Given the description of an element on the screen output the (x, y) to click on. 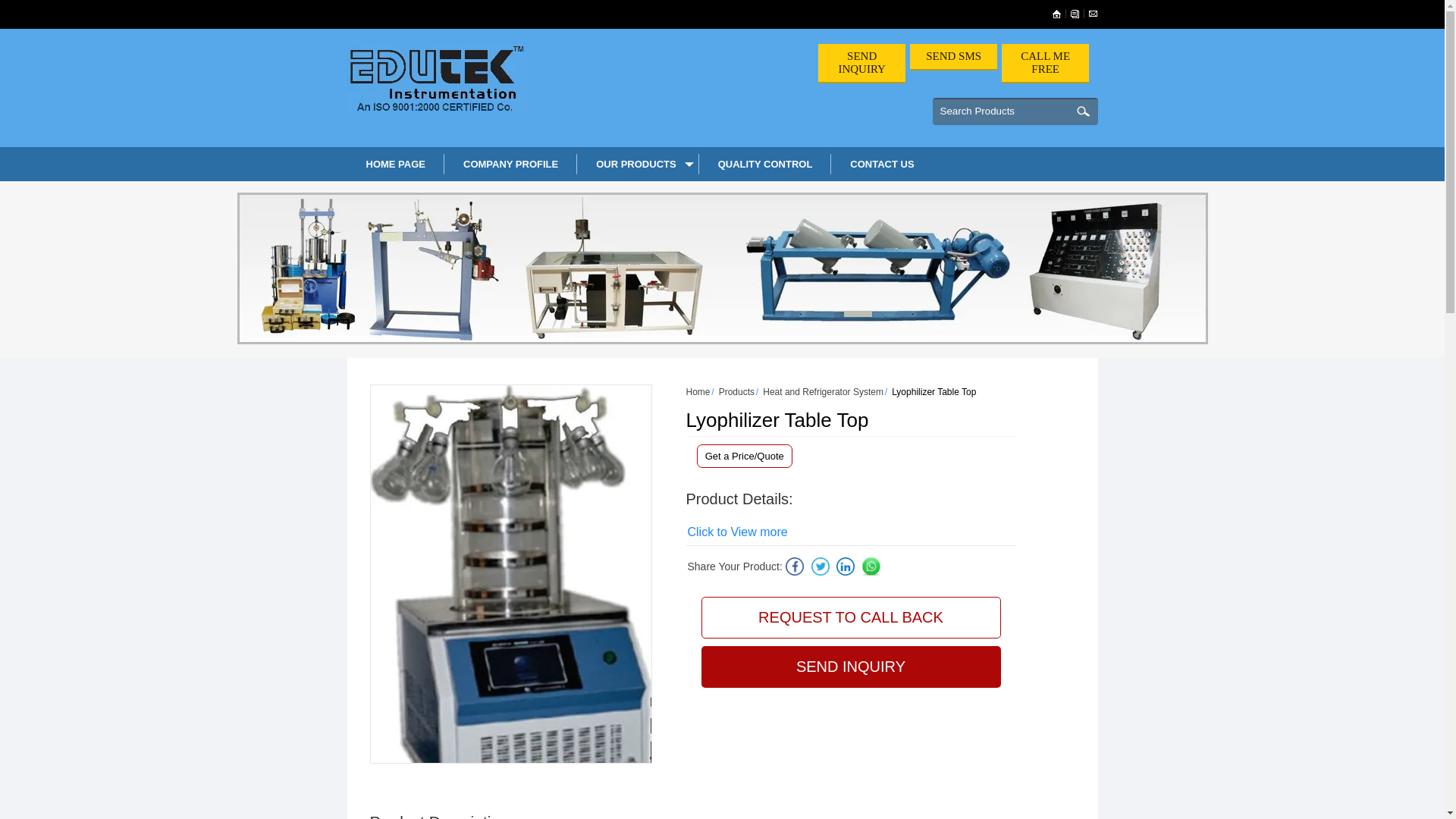
OUR PRODUCTS (637, 163)
Search Products (1000, 110)
HOME PAGE (396, 163)
COMPANY PROFILE (510, 163)
submit (1082, 111)
submit (1082, 111)
